Given the description of an element on the screen output the (x, y) to click on. 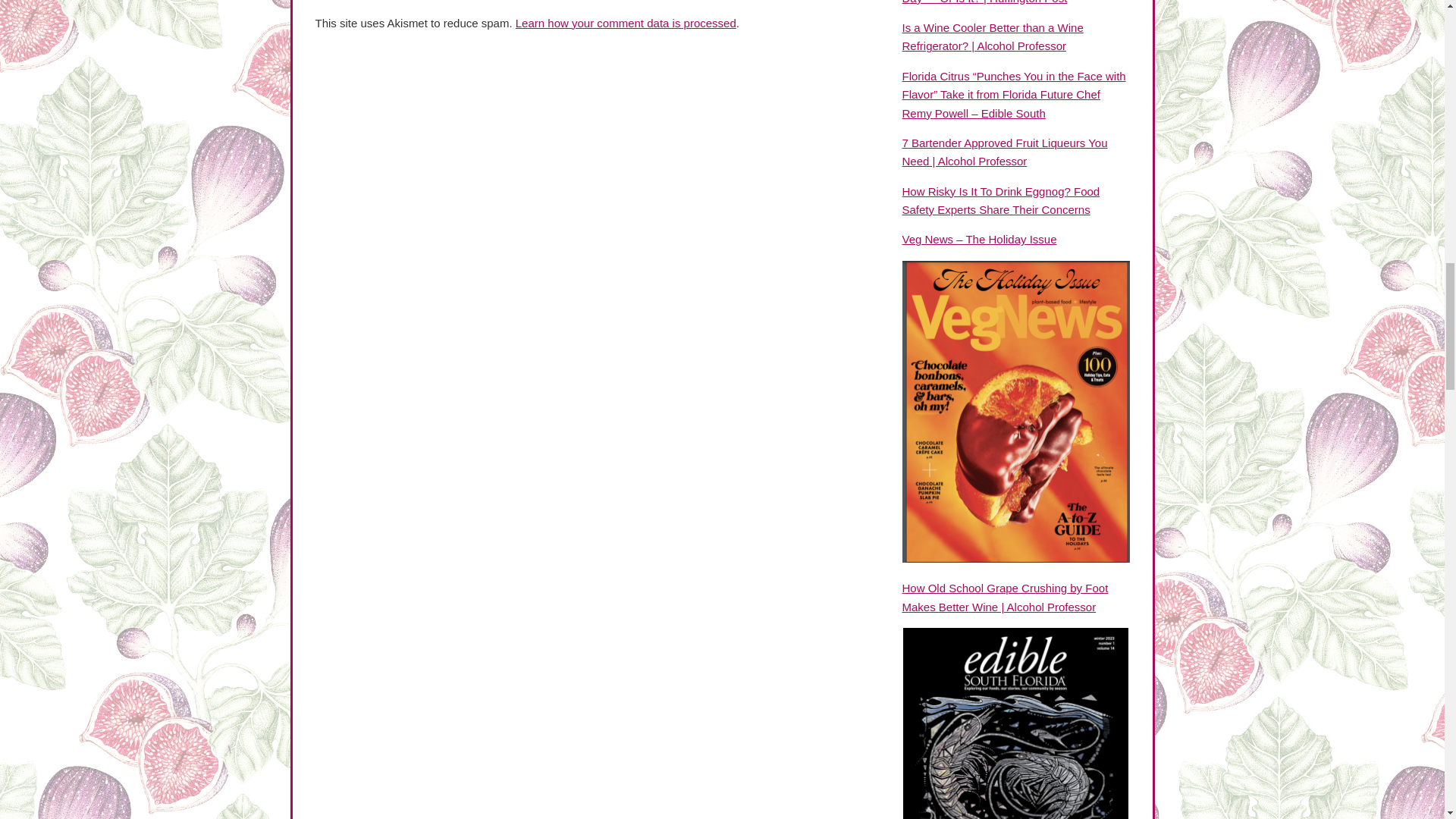
Learn how your comment data is processed (625, 22)
